Given the description of an element on the screen output the (x, y) to click on. 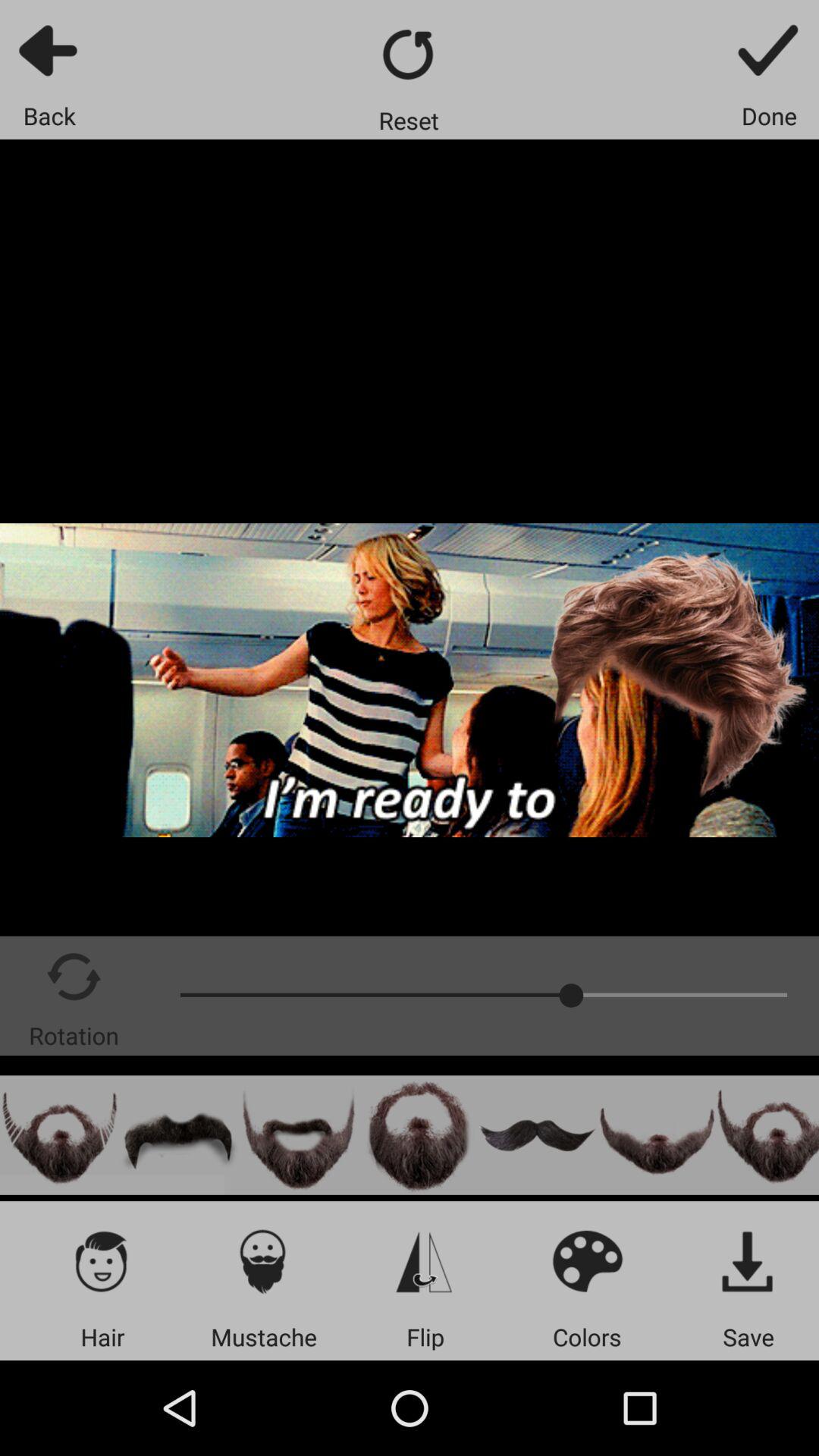
select this option (767, 1134)
